Given the description of an element on the screen output the (x, y) to click on. 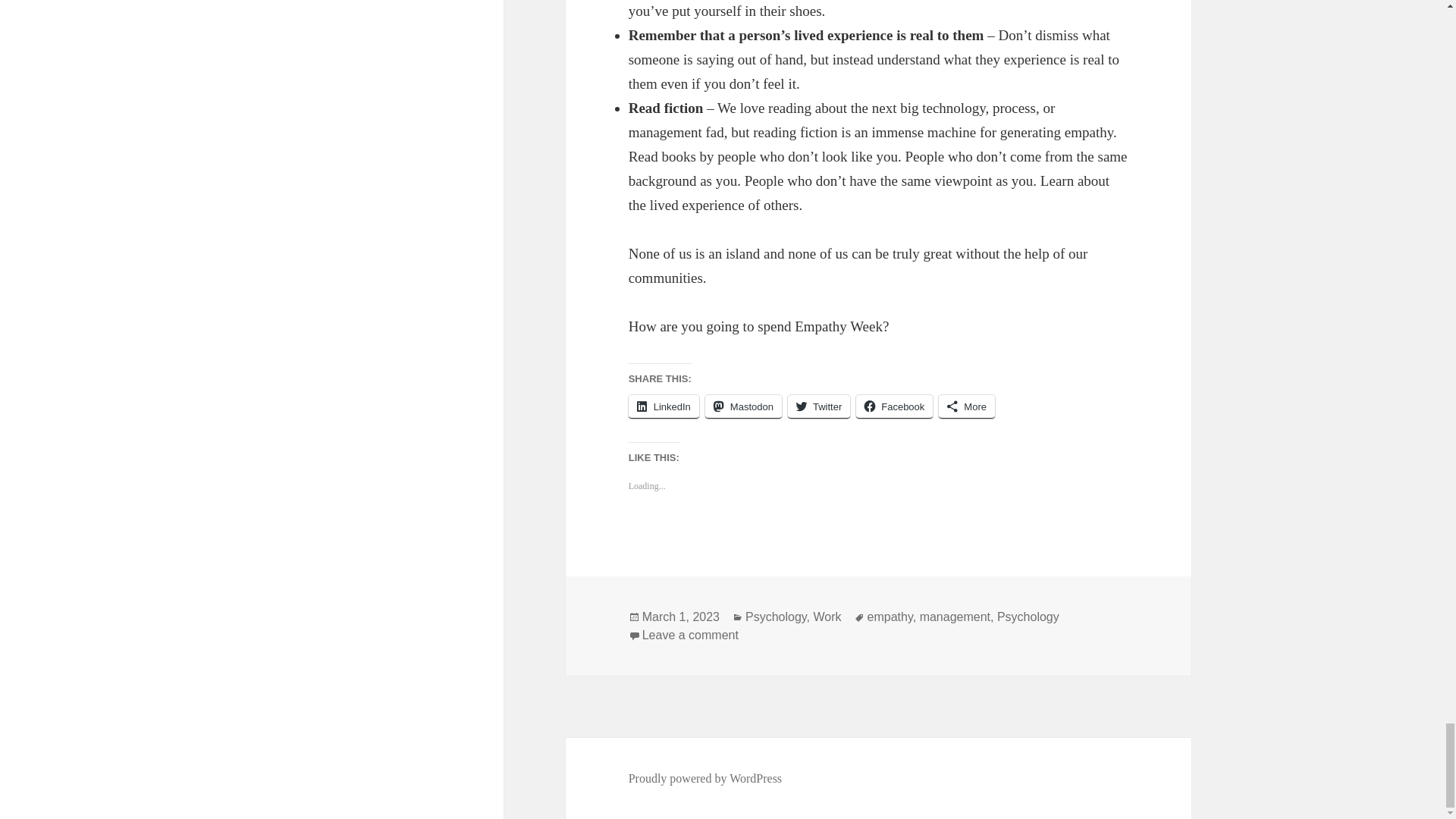
Click to share on Mastodon (742, 406)
Click to share on Twitter (818, 406)
Click to share on LinkedIn (663, 406)
